Given the description of an element on the screen output the (x, y) to click on. 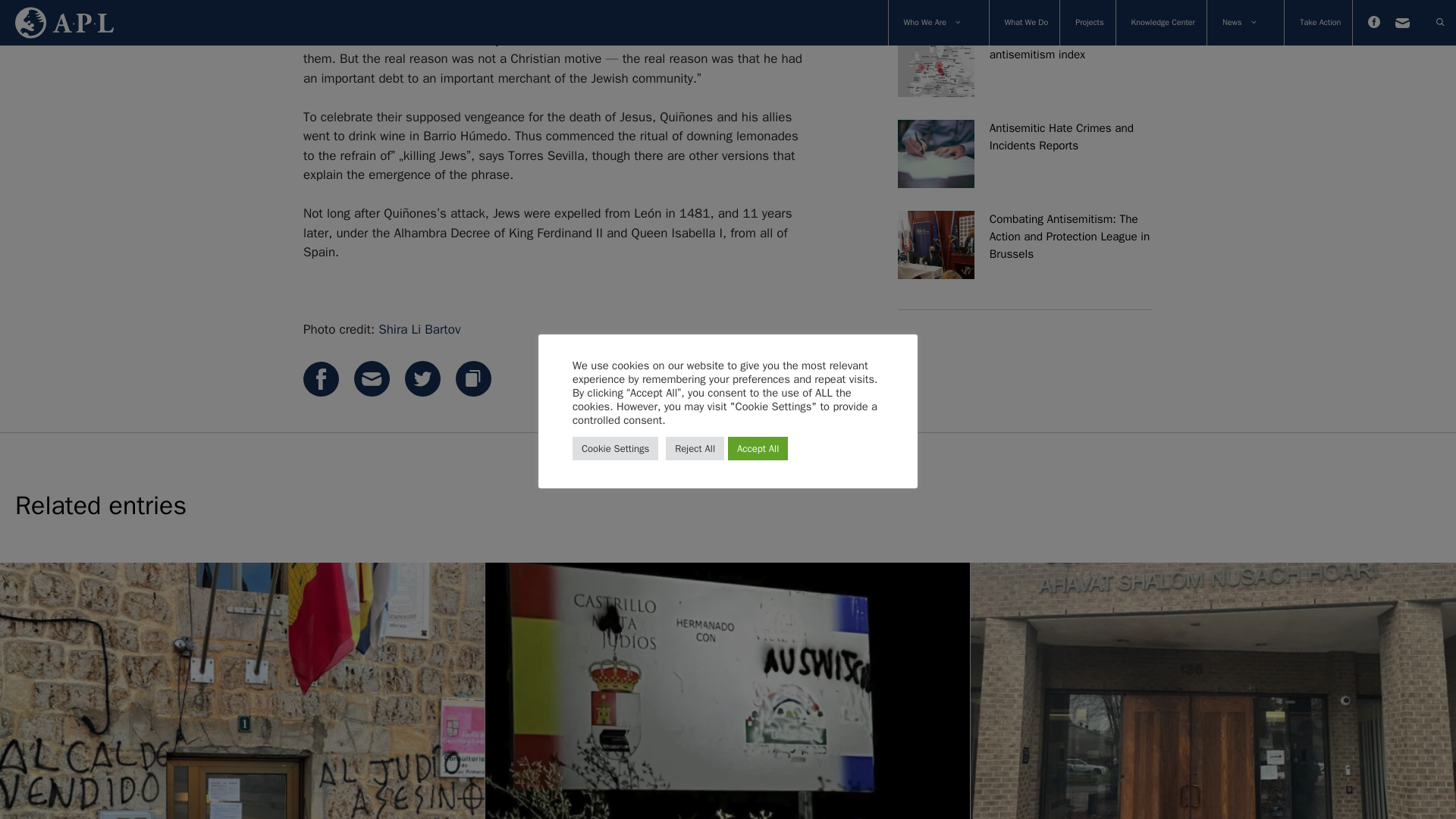
European antisemitism survey (936, 2)
